Given the description of an element on the screen output the (x, y) to click on. 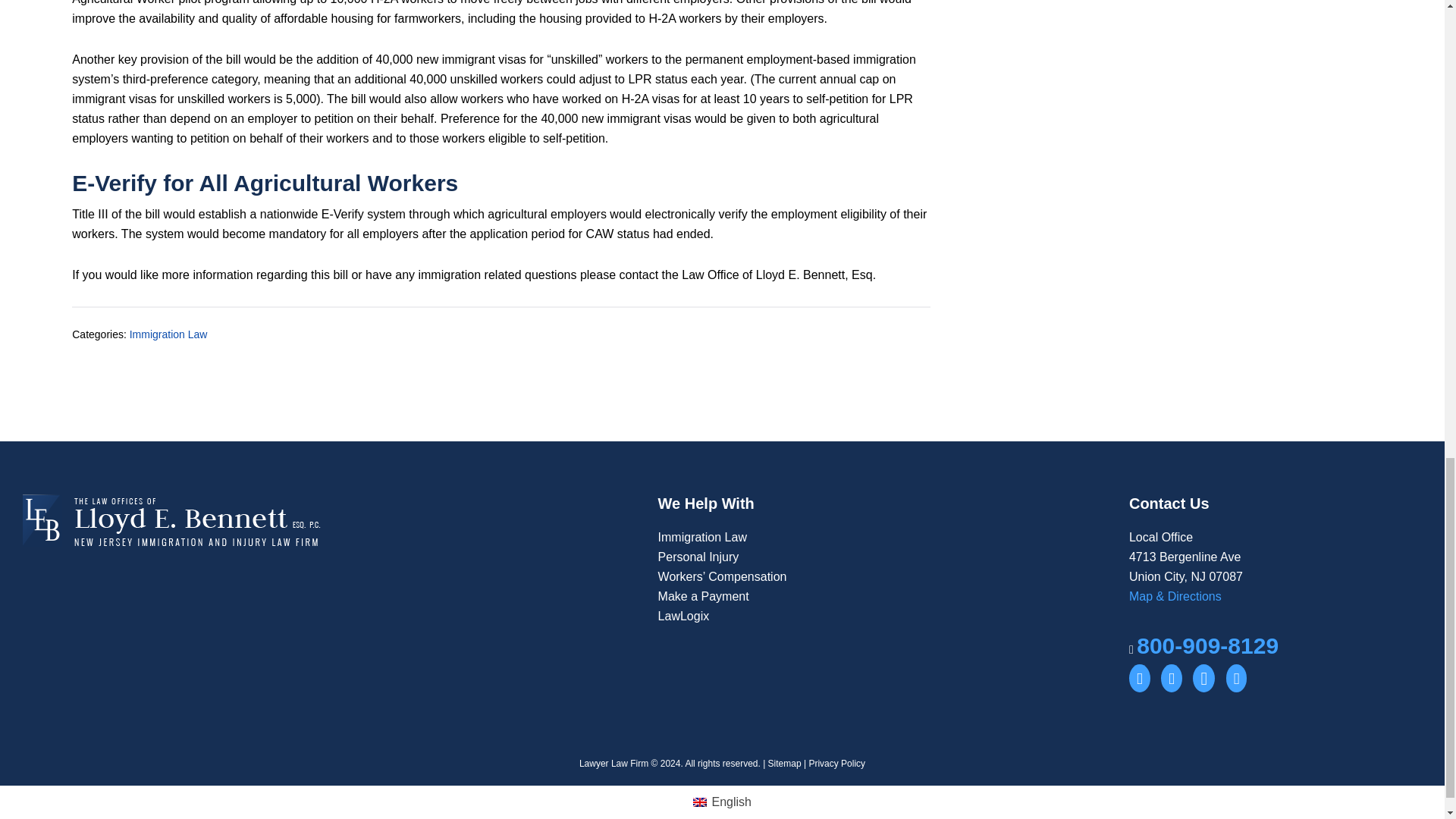
Lawyer Law Firm (613, 763)
Yelp (1236, 678)
Instagram (1171, 678)
Immigration Law (702, 536)
Sitemap (785, 763)
YouTube (1139, 678)
Make a Payment (703, 595)
800-909-8129 (1207, 645)
LawLogix (684, 615)
Personal Injury (698, 556)
Twitter (1203, 678)
Privacy Policy (836, 763)
Immigration Law (168, 334)
